Given the description of an element on the screen output the (x, y) to click on. 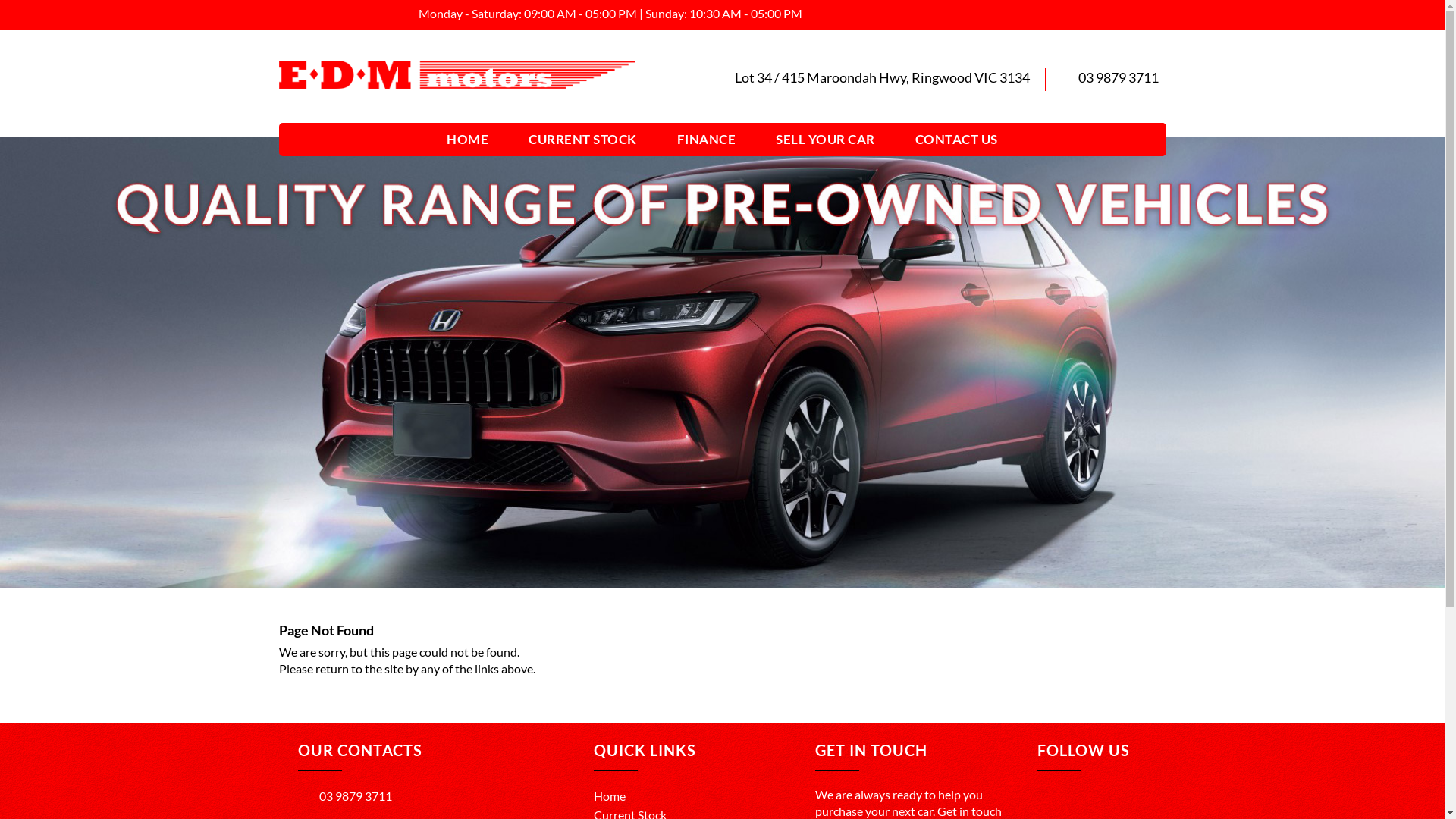
HOME Element type: text (467, 139)
Lot 34 / 415 Maroondah Hwy, Ringwood VIC 3134 Element type: text (881, 77)
FINANCE Element type: text (706, 139)
Home Element type: text (608, 795)
CONTACT US Element type: text (956, 139)
03 9879 3711 Element type: text (344, 795)
03 9879 3711 Element type: text (1118, 77)
CURRENT STOCK Element type: text (582, 139)
SELL YOUR CAR Element type: text (825, 139)
